Given the description of an element on the screen output the (x, y) to click on. 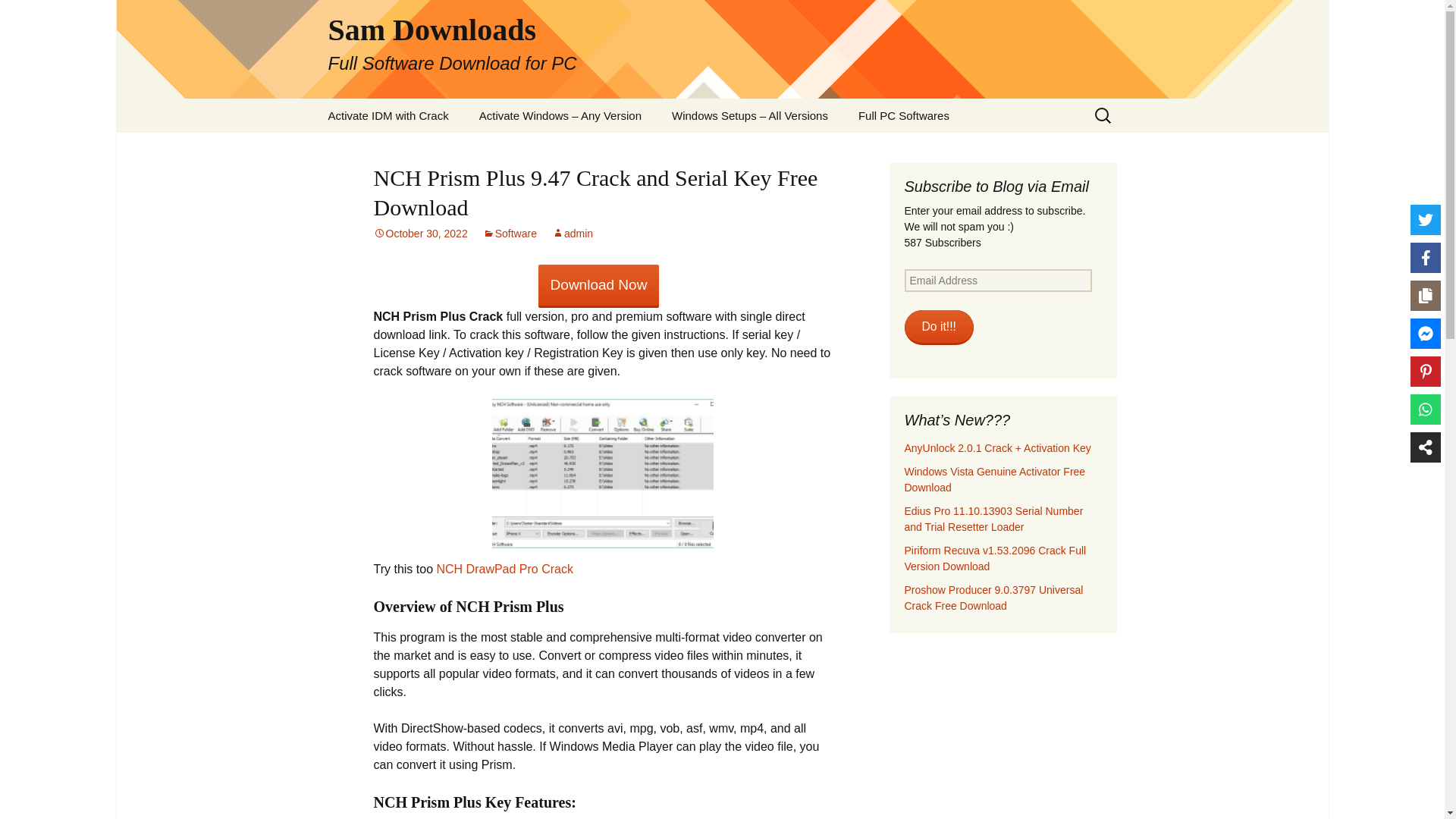
View all posts by admin (571, 233)
Full PC Softwares (903, 115)
Download Now (598, 285)
Search (18, 15)
Windows Vista Genuine Activator Free Download (994, 479)
NCH DrawPad Pro Crack (503, 568)
admin (571, 233)
Do it!!! (938, 327)
